Given the description of an element on the screen output the (x, y) to click on. 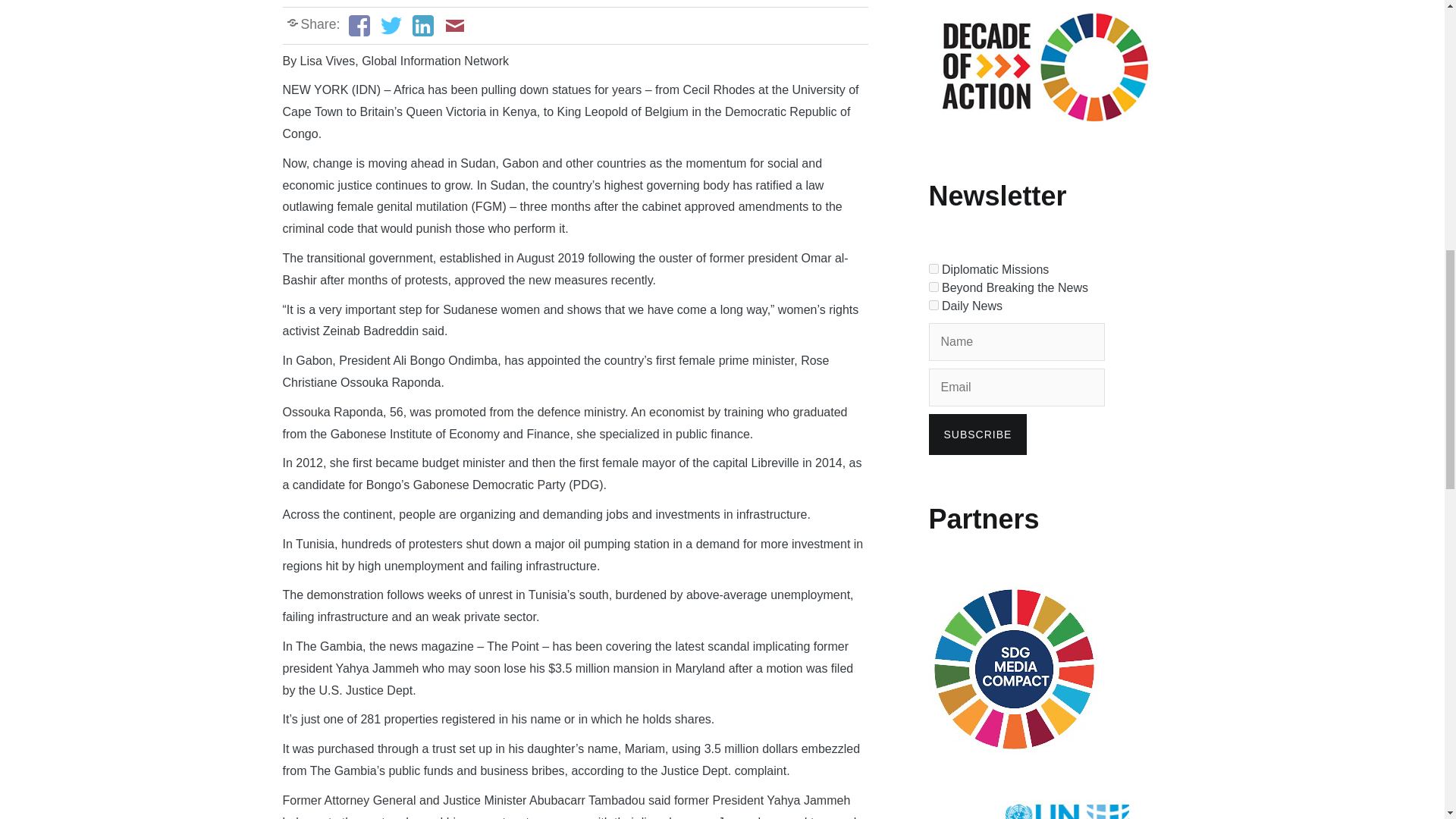
9 (932, 286)
Subscribe (977, 434)
8 (932, 268)
10 (932, 305)
